Given the description of an element on the screen output the (x, y) to click on. 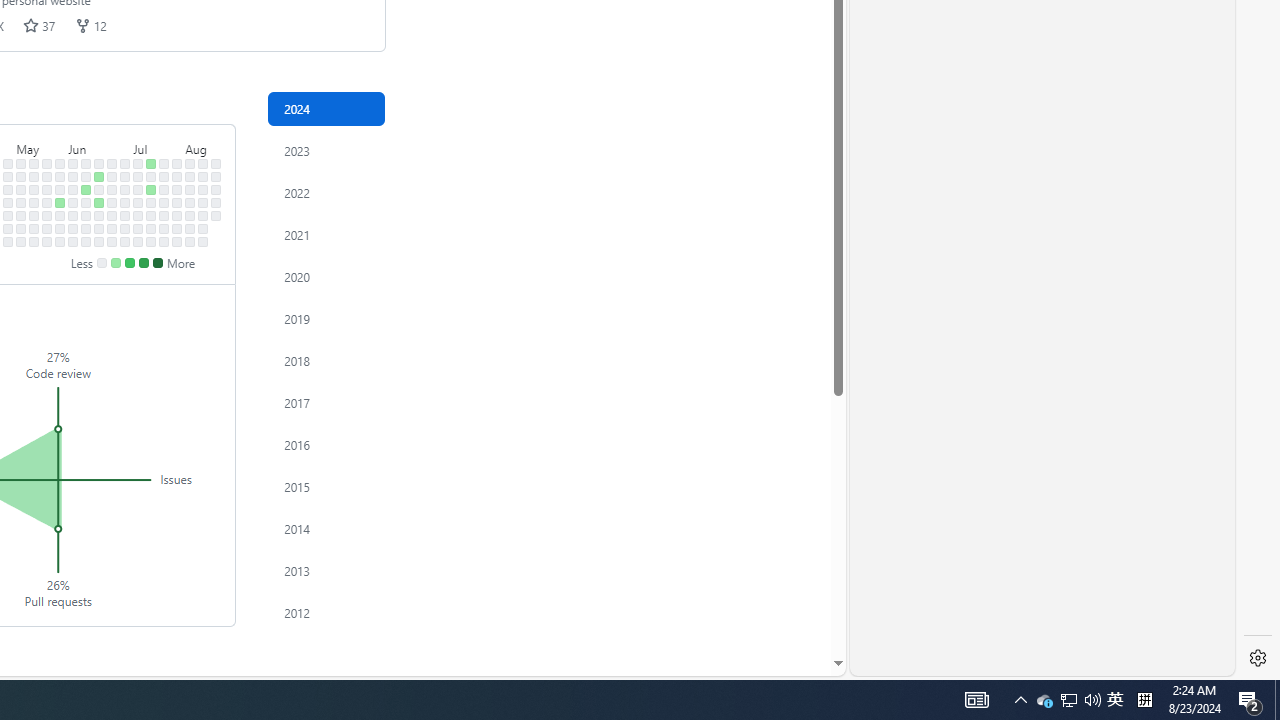
No contributions on May 4th. (8, 241)
No contributions on July 26th. (164, 228)
No contributions on July 4th. (125, 215)
No contributions on June 25th. (112, 189)
No contributions on June 9th. (86, 163)
No contributions on April 30th. (8, 189)
No contributions on August 8th. (190, 215)
No contributions on May 6th. (20, 176)
No contributions on June 24th. (112, 176)
No contributions on June 27th. (112, 215)
No contributions on August 11th. (203, 163)
No contributions on May 22nd. (47, 202)
No contributions on August 3rd. (177, 241)
2 contributions on July 14th. (151, 163)
2016 (326, 444)
